Given the description of an element on the screen output the (x, y) to click on. 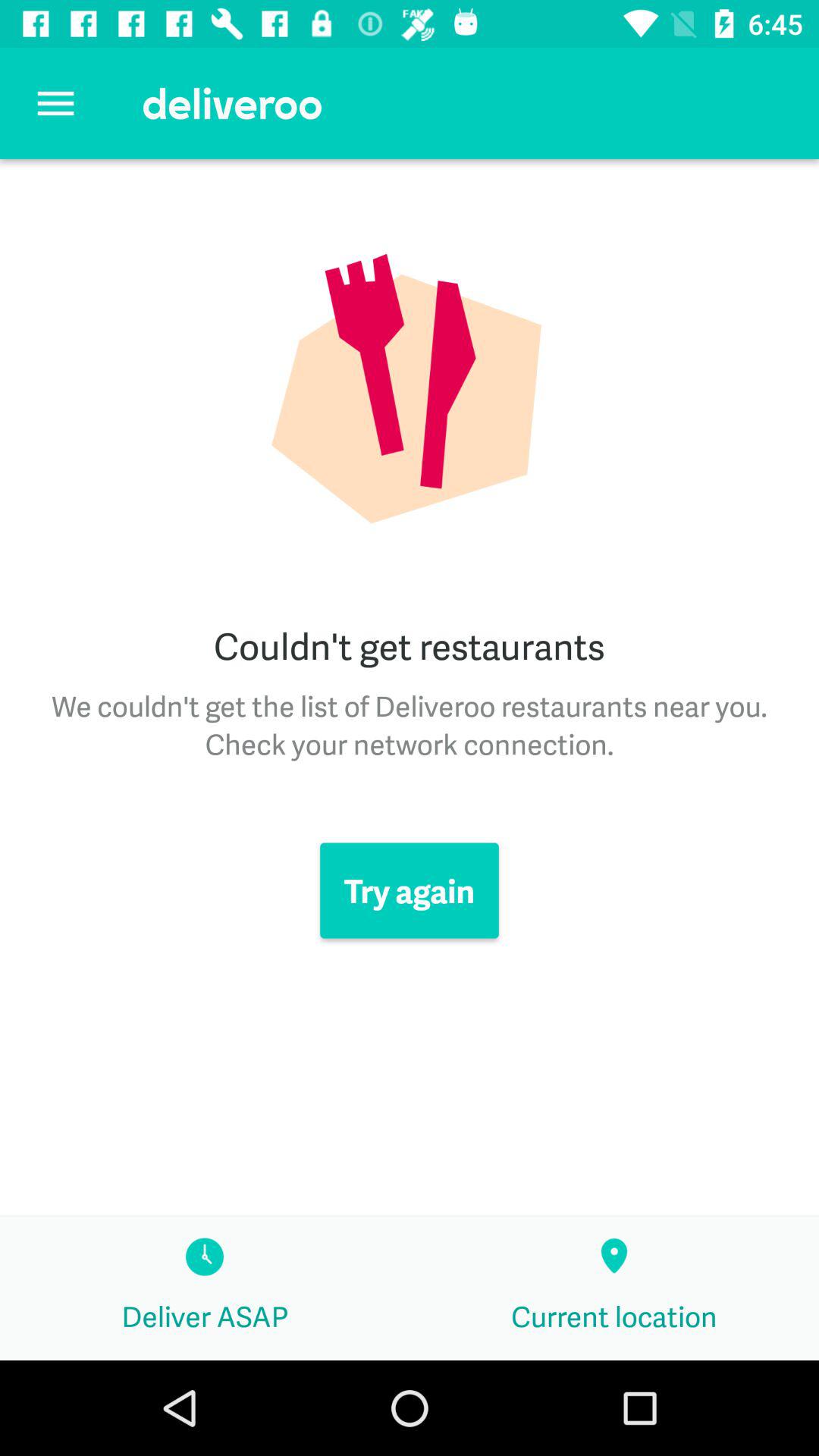
open item next to deliver asap (614, 1288)
